Given the description of an element on the screen output the (x, y) to click on. 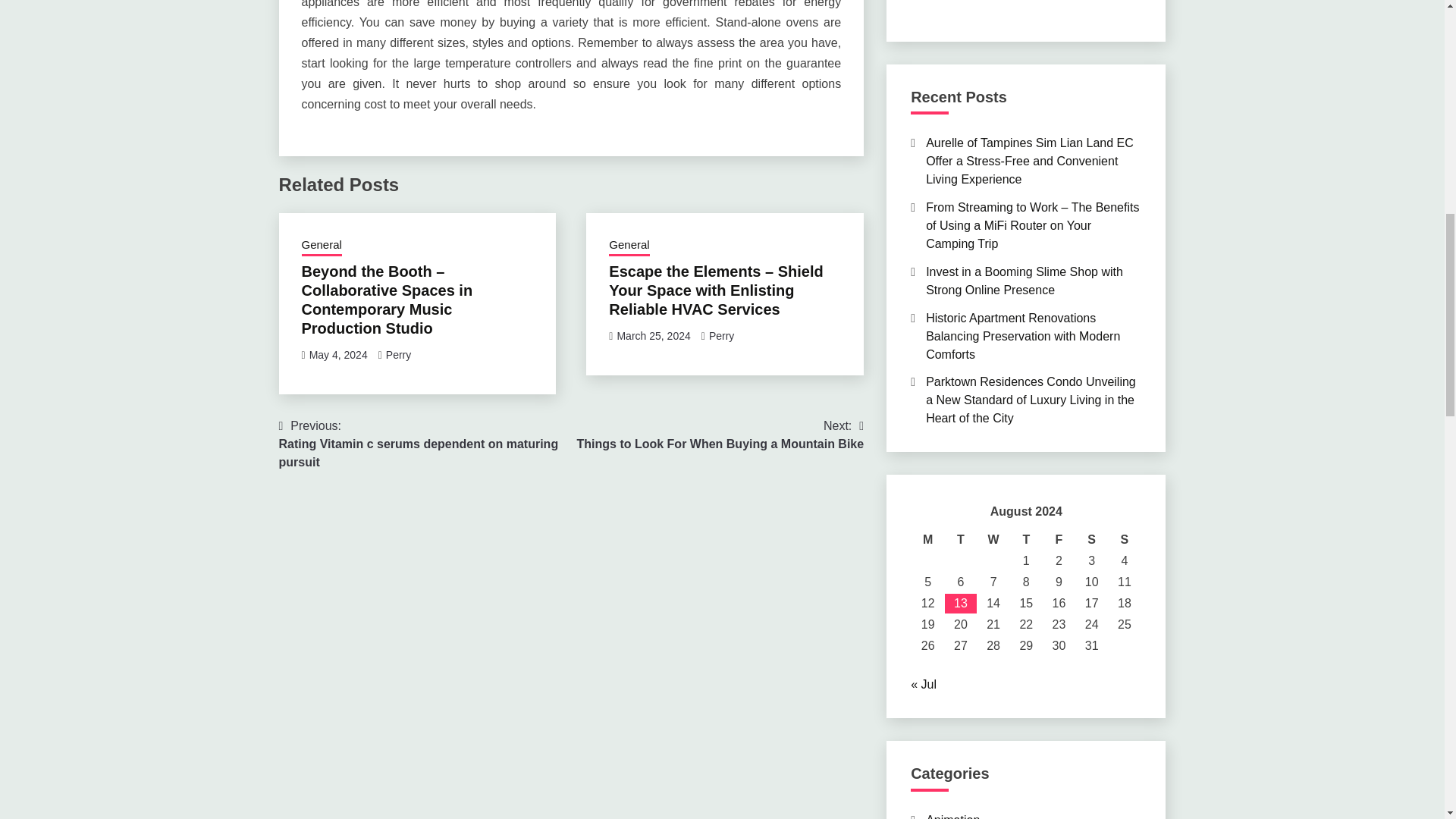
Monday (927, 539)
Sunday (1124, 539)
General (321, 246)
Saturday (1090, 539)
Animation (952, 816)
March 25, 2024 (652, 336)
Tuesday (959, 539)
Wednesday (993, 539)
